Given the description of an element on the screen output the (x, y) to click on. 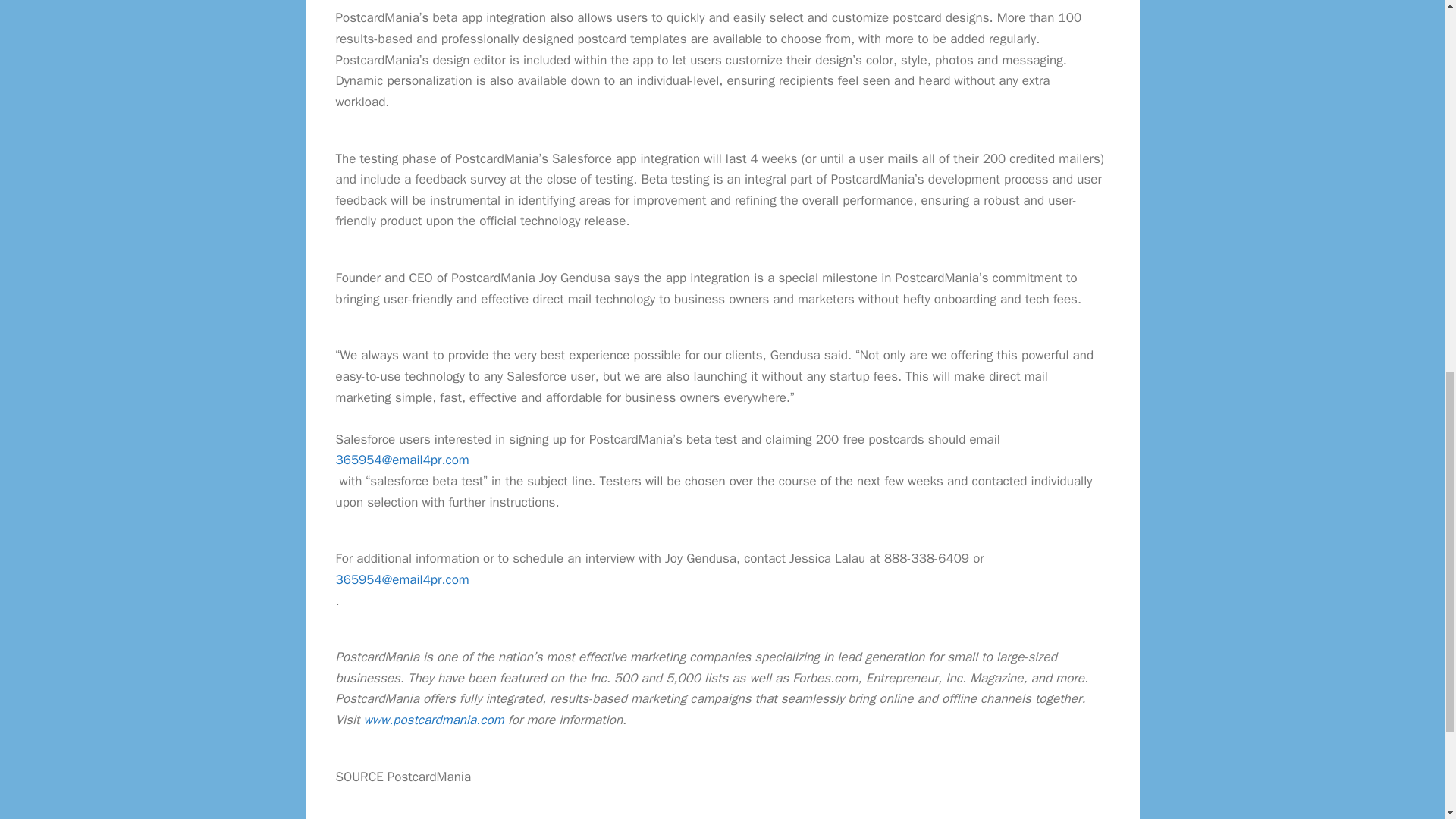
www.postcardmania.com (433, 719)
